Given the description of an element on the screen output the (x, y) to click on. 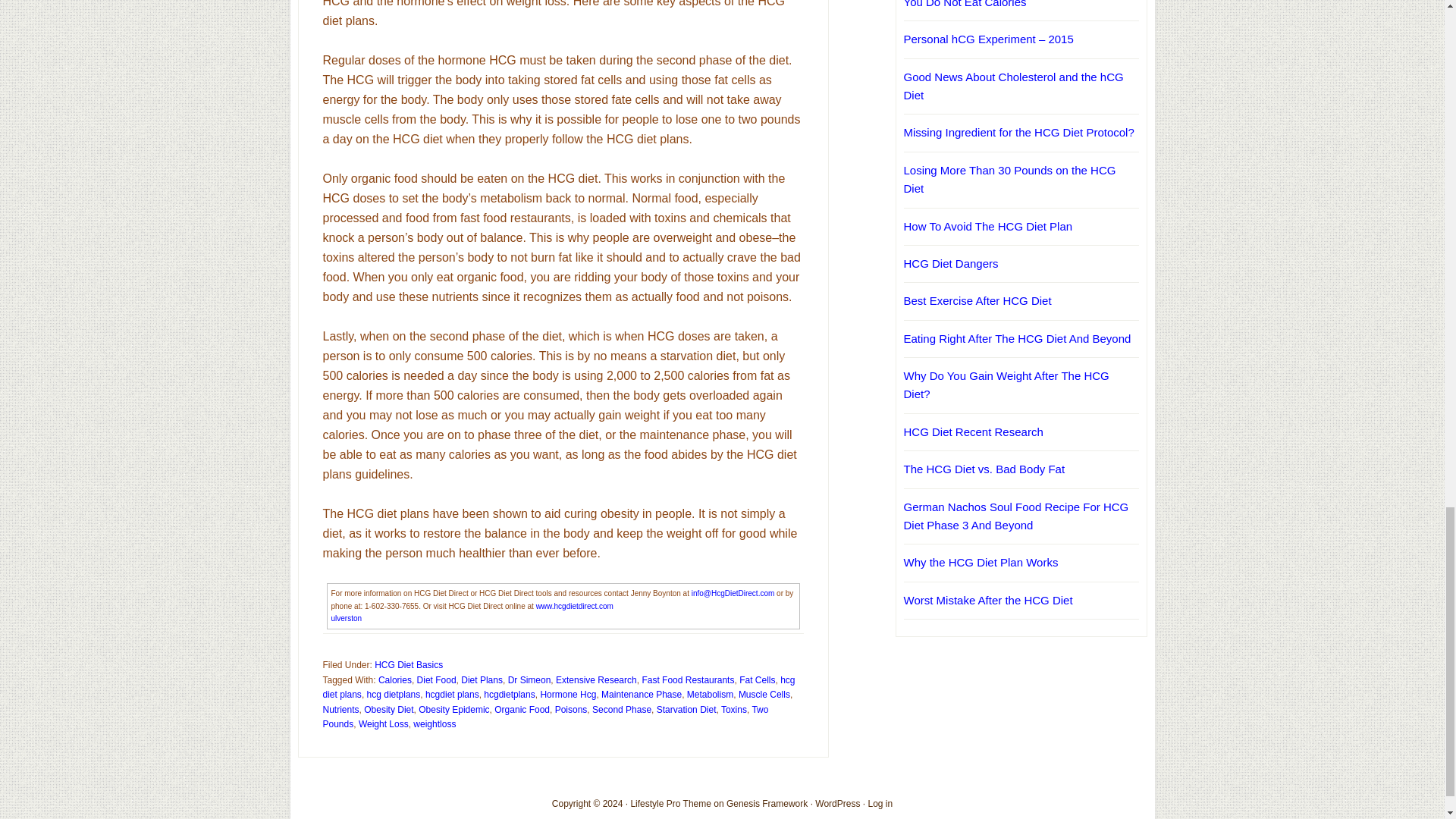
ulverston (345, 618)
HCG Diet Basics (408, 665)
Calories (395, 679)
www.hcgdietdirect.com (573, 605)
